Given the description of an element on the screen output the (x, y) to click on. 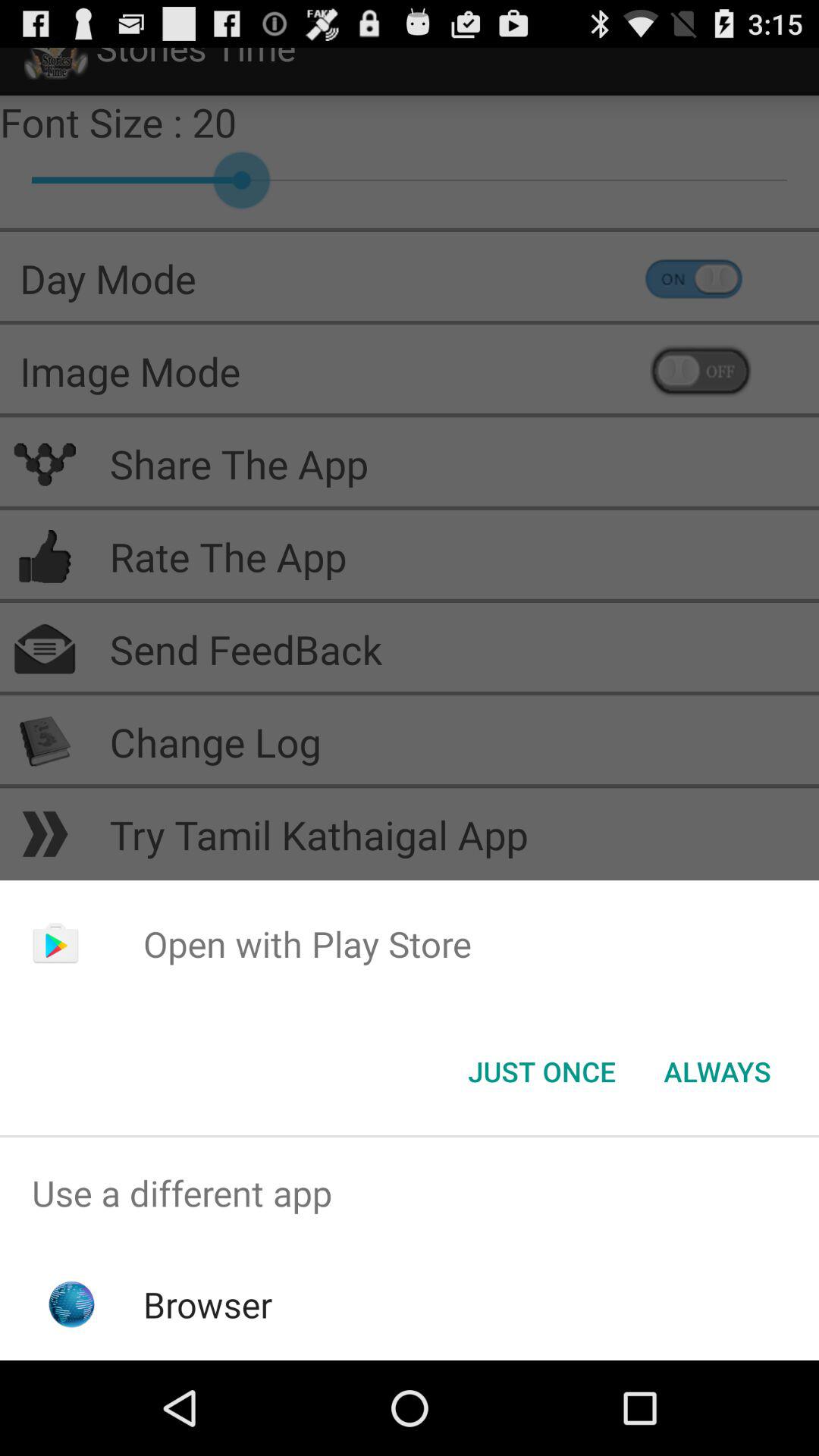
launch icon to the right of just once (717, 1071)
